Given the description of an element on the screen output the (x, y) to click on. 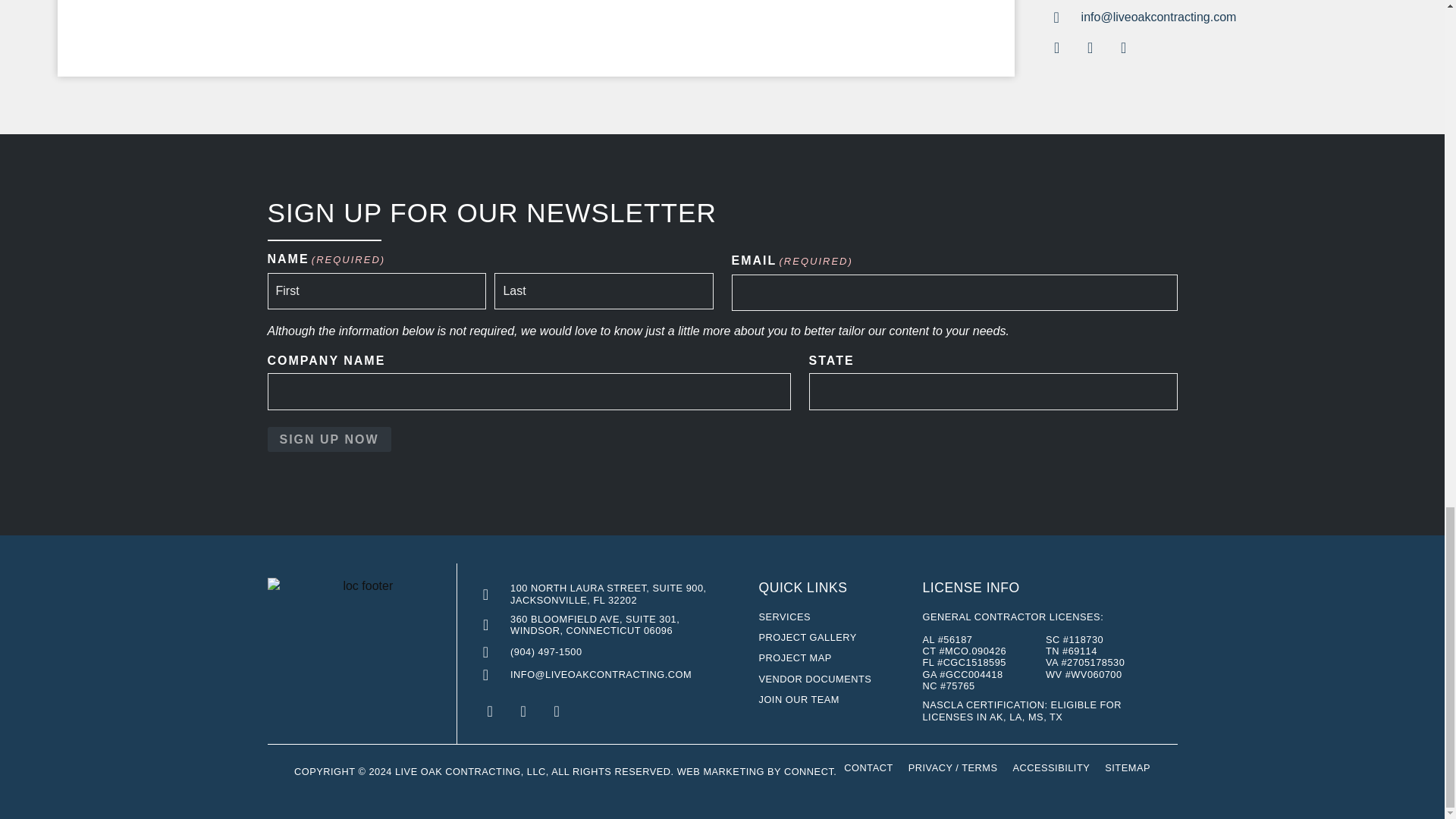
Sign Up Now (328, 439)
Follow us on Facebook - opens in new tab (1056, 47)
Follow us on Facebook - opens in new tab (489, 710)
Live Oak's Instagram profile - opens in new tab (556, 710)
visit the connect agency website - opens in new window (808, 771)
Live Oak's LinkedIn profile - opens in new tab (523, 710)
Live Oak's Instagram profile - opens in new tab (1123, 47)
Live Oak's LinkedIn profile - opens in new tab (1090, 47)
back to homepage (470, 771)
